Given the description of an element on the screen output the (x, y) to click on. 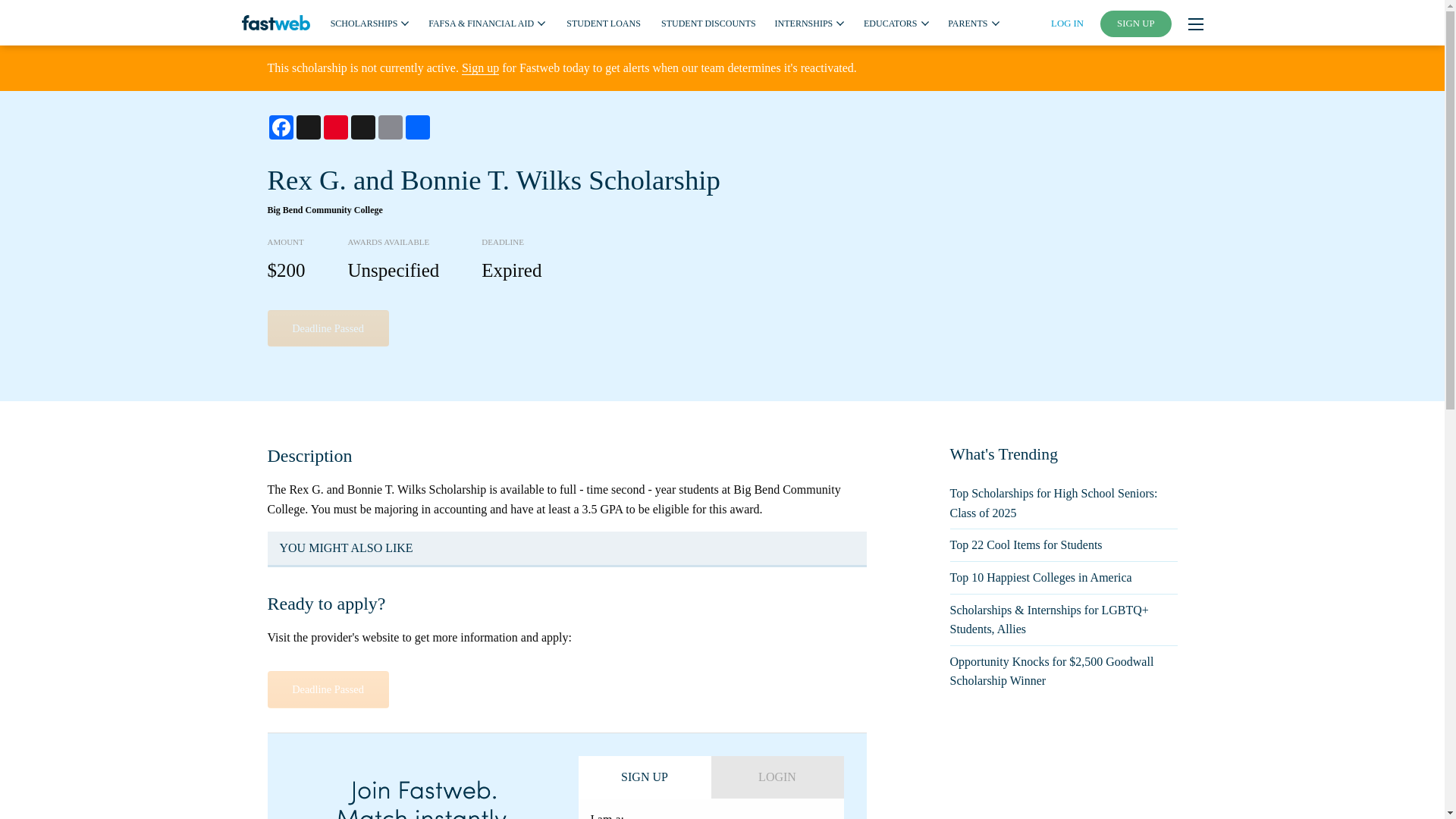
LOG IN (1067, 23)
STUDENT LOANS (603, 22)
STUDENT DISCOUNTS (708, 22)
SIGN UP (1136, 23)
